Given the description of an element on the screen output the (x, y) to click on. 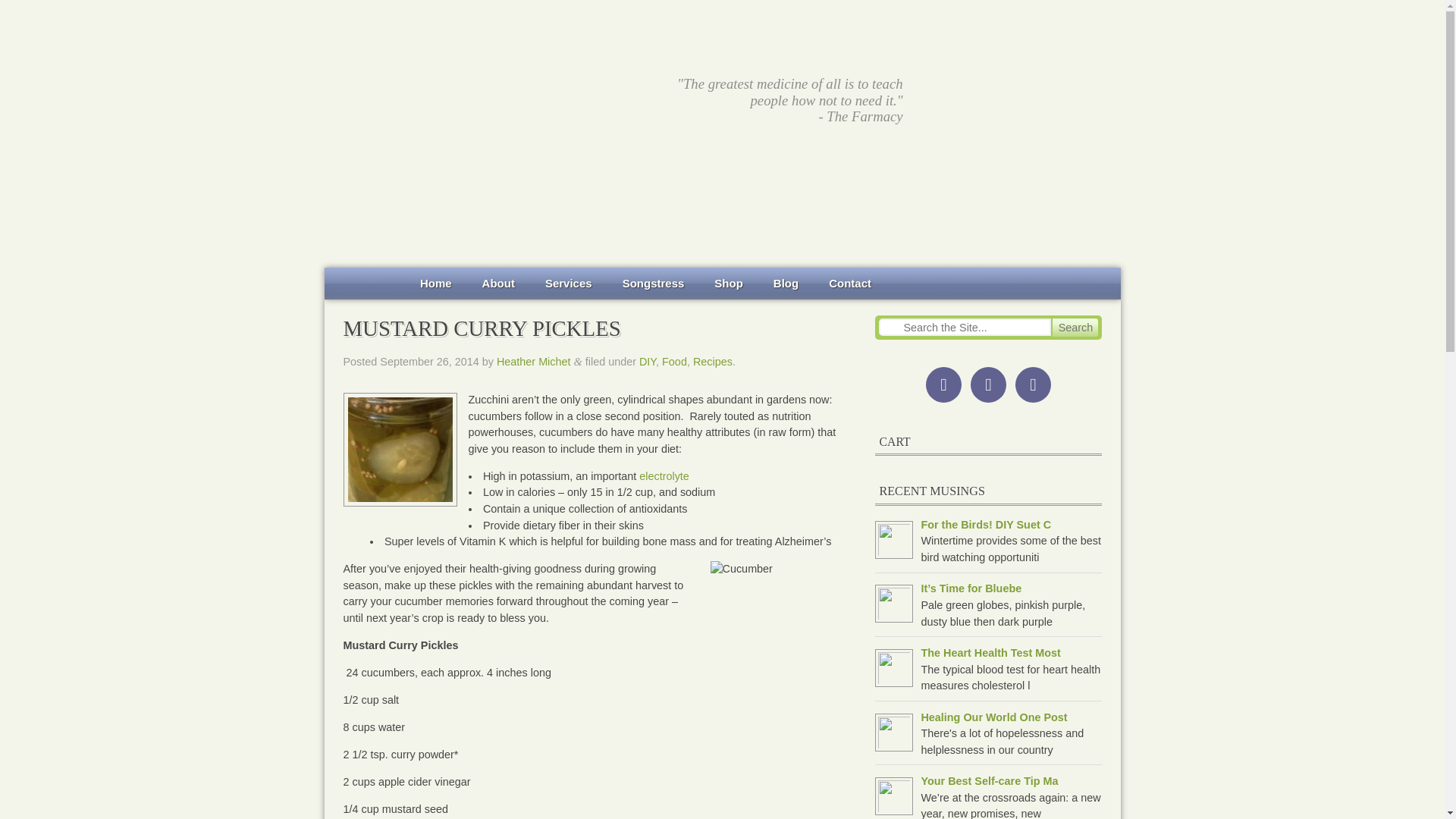
IRIS HEALING ARTS, LLC. (480, 79)
Search (1075, 327)
Search (1075, 327)
facebook (943, 383)
Blog (785, 283)
Services (568, 283)
Facebook (943, 383)
Shop (728, 283)
Songstress (653, 283)
electrolyte (663, 476)
